Given the description of an element on the screen output the (x, y) to click on. 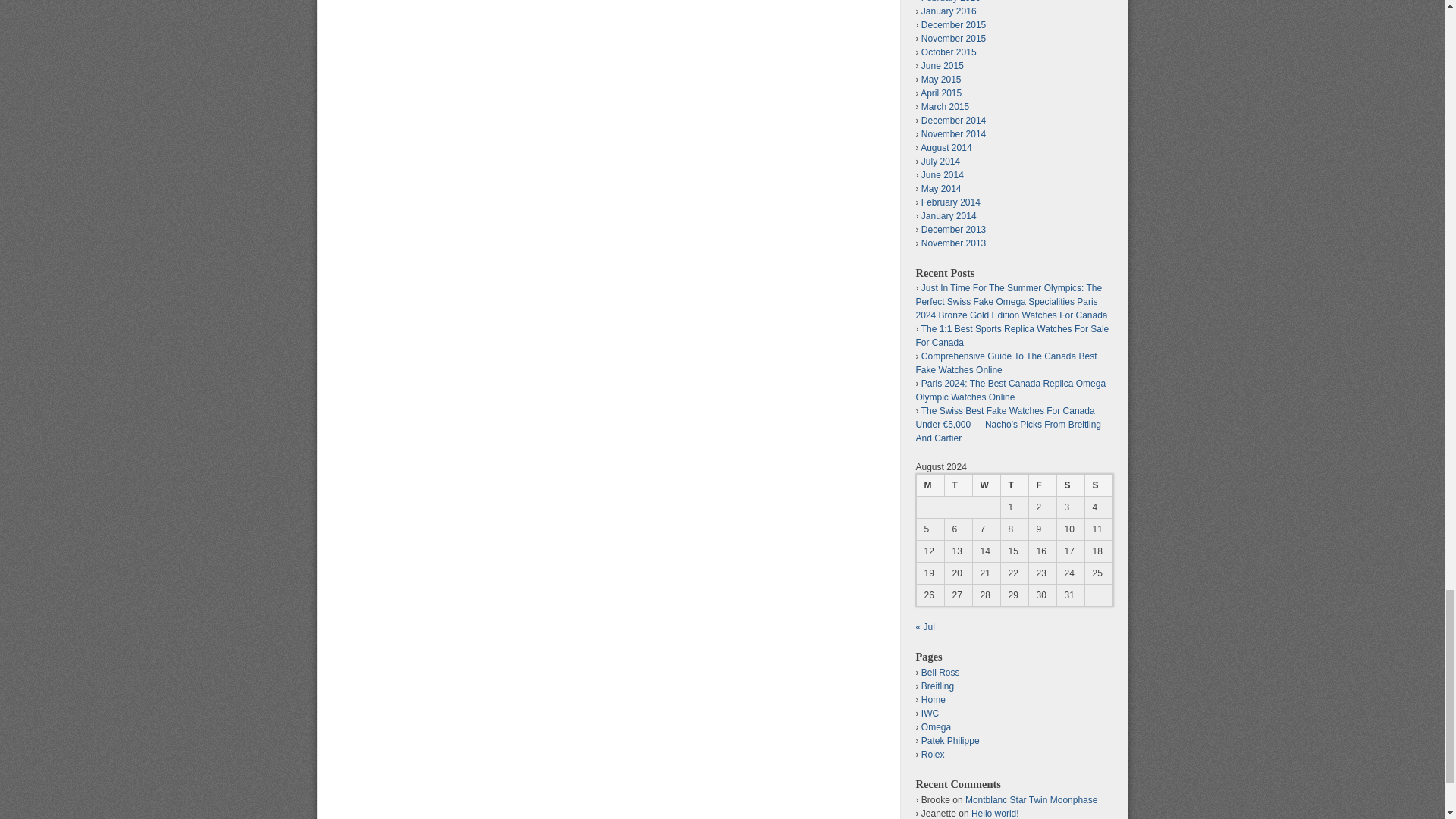
Wednesday (986, 485)
Sunday (1098, 485)
Saturday (1069, 485)
Tuesday (957, 485)
Friday (1042, 485)
Thursday (1012, 485)
Monday (929, 485)
